Given the description of an element on the screen output the (x, y) to click on. 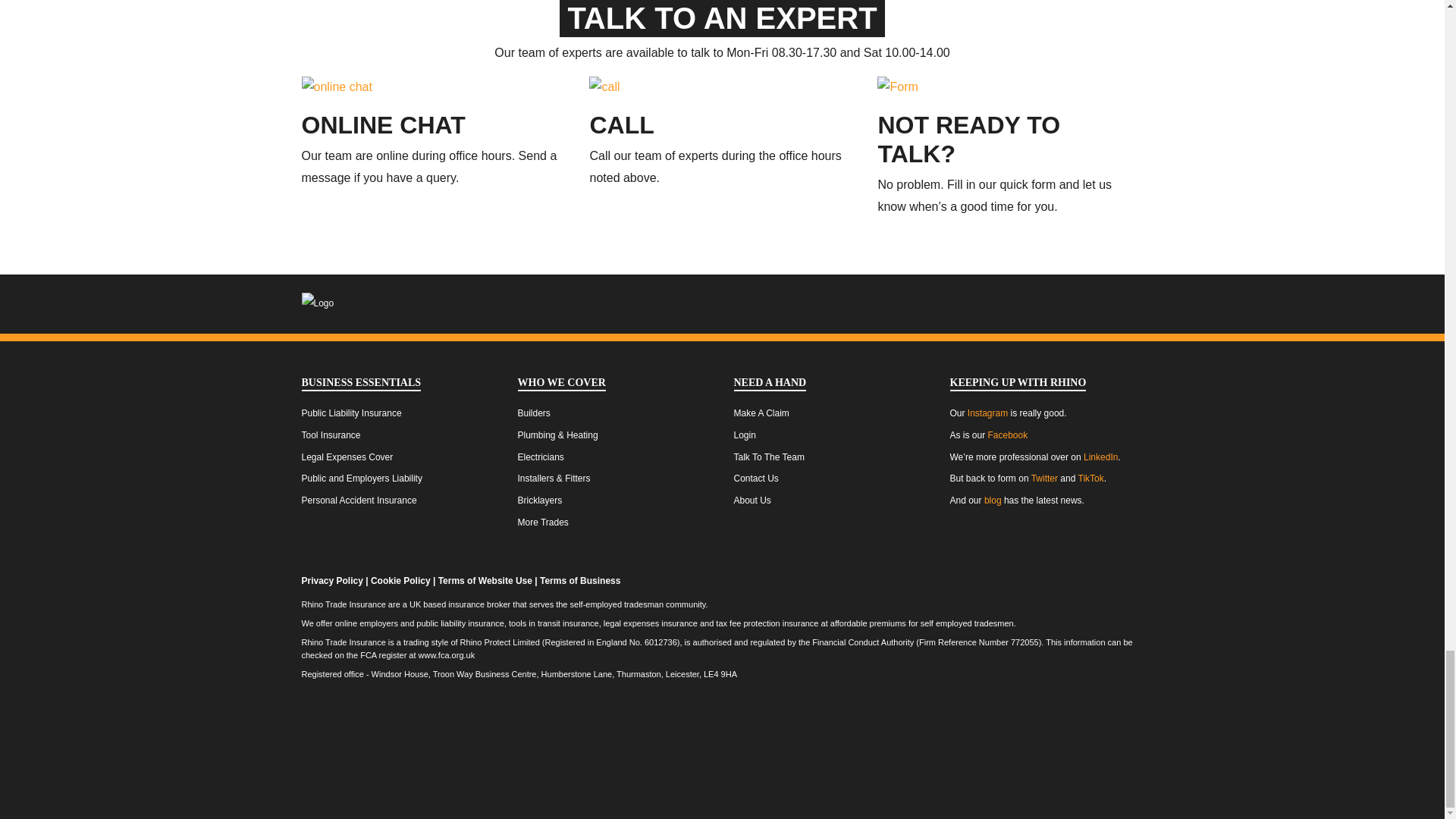
Not Ready To Buy (968, 139)
Phone (621, 124)
Terms of Business (580, 580)
Not Ready To Buy (897, 85)
Online (383, 124)
